Given the description of an element on the screen output the (x, y) to click on. 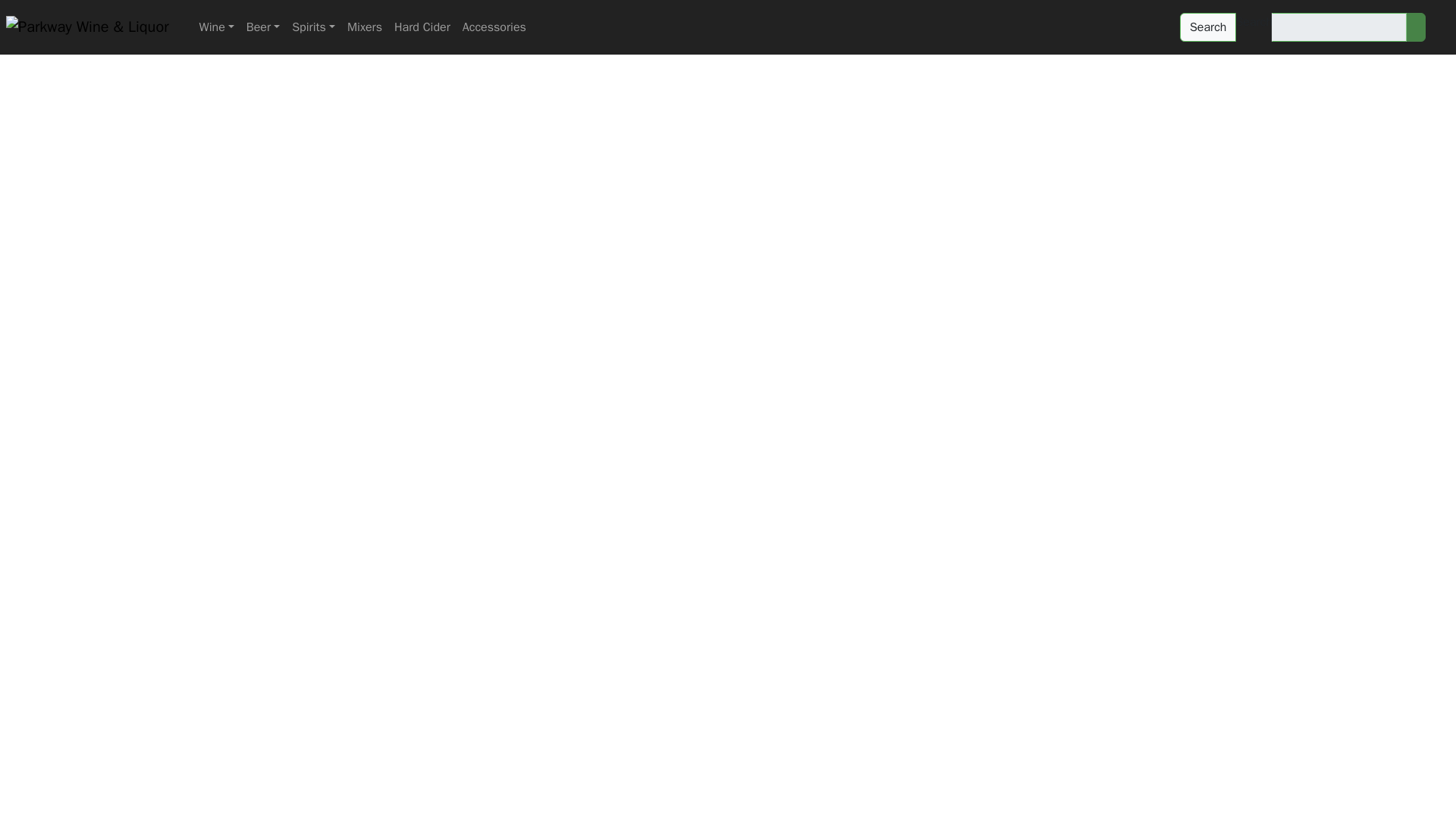
Wine (216, 27)
